Given the description of an element on the screen output the (x, y) to click on. 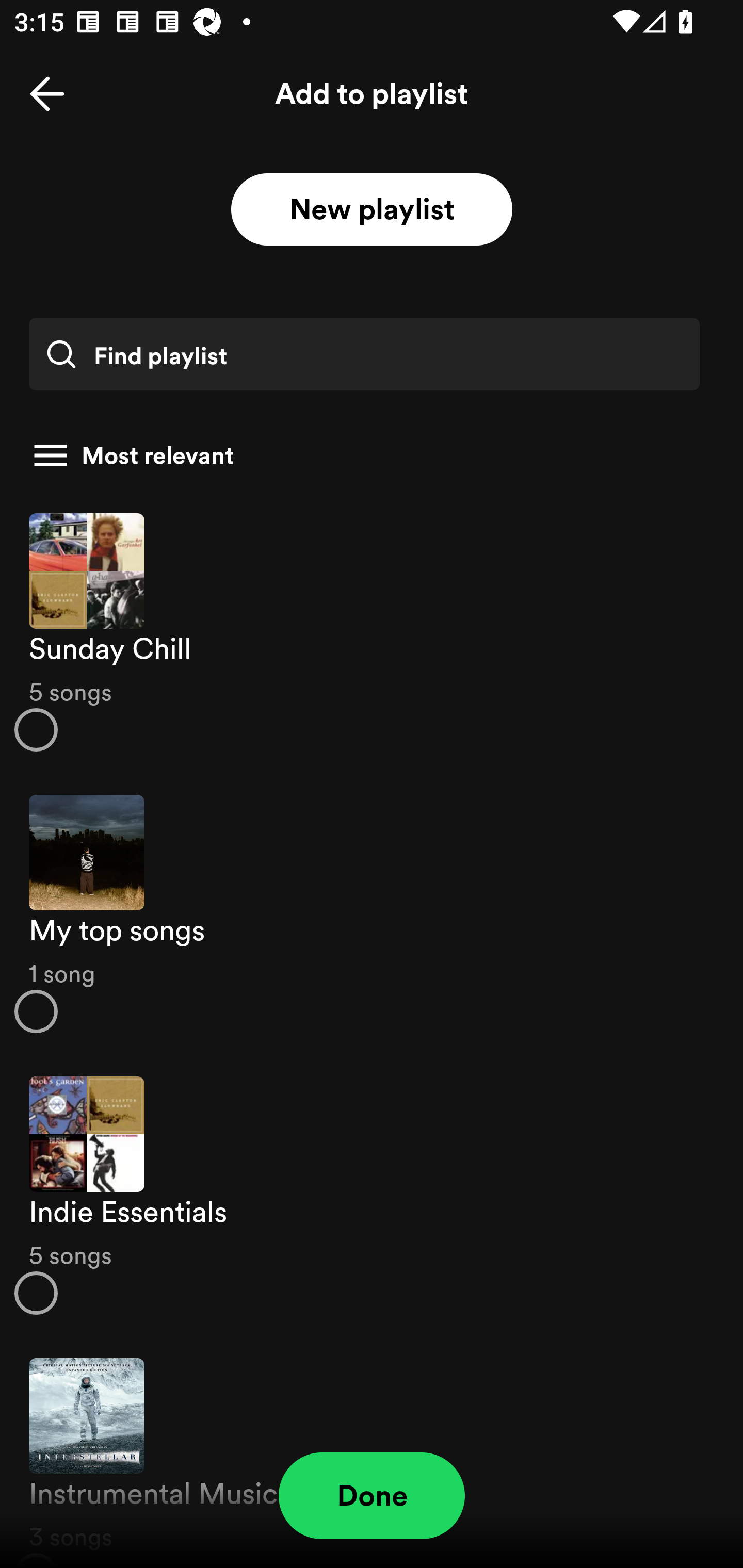
Back (46, 93)
New playlist (371, 210)
Find playlist (363, 354)
Most relevant (363, 455)
Sunday Chill 5 songs (371, 631)
My top songs 1 song (371, 914)
Indie Essentials 5 songs (371, 1195)
Instrumental Music 3 songs (371, 1451)
Done (371, 1495)
